Given the description of an element on the screen output the (x, y) to click on. 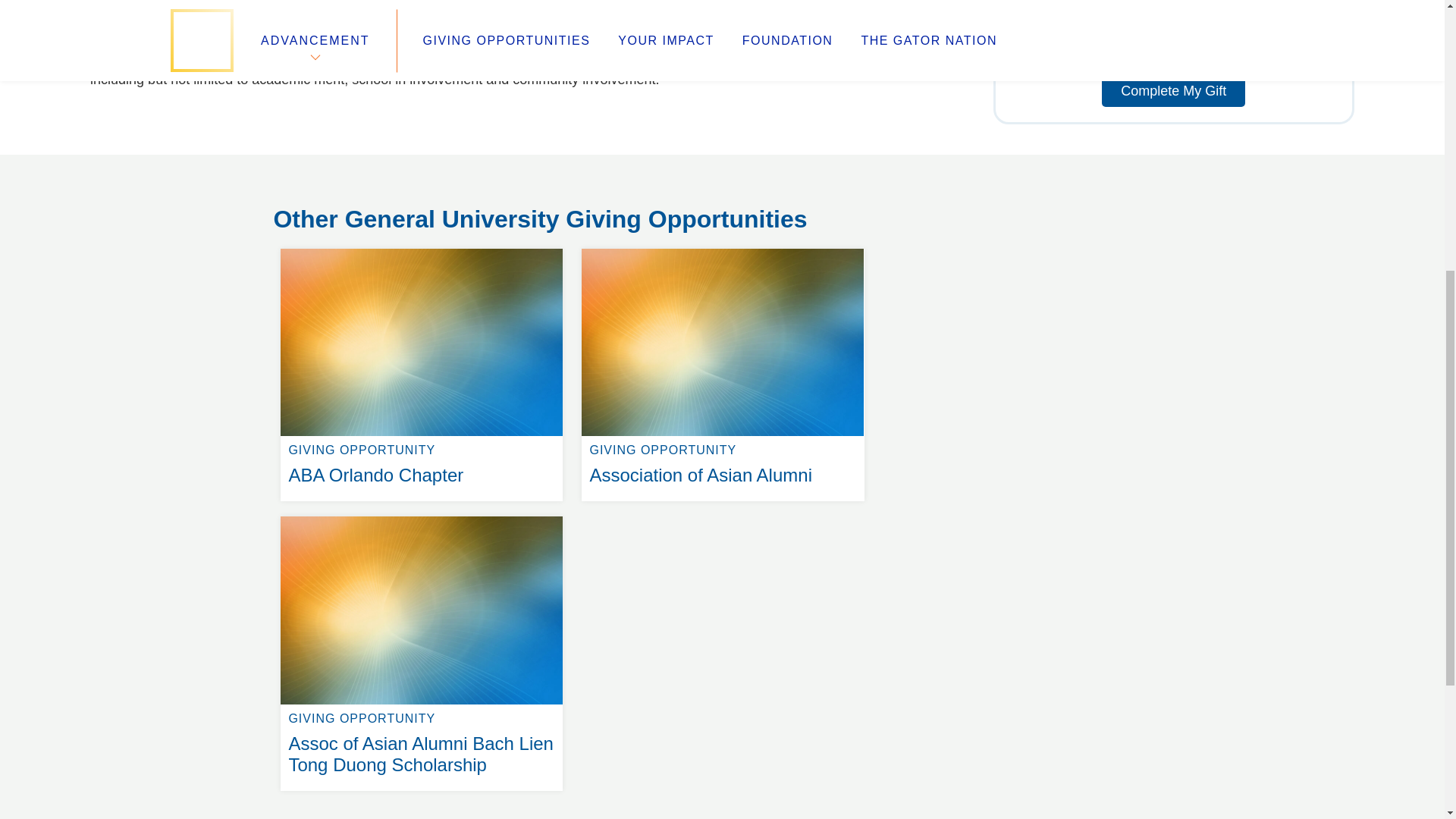
Staff Directory (316, 174)
Complete My Gift (1173, 91)
Foundation Board (721, 248)
Contact Us (327, 192)
Advancement HUB (306, 210)
Disclosures (421, 248)
Advancement Toolkit (560, 155)
Privacy Policy (537, 210)
Join Our Team (565, 174)
University of Florida (545, 192)
